Given the description of an element on the screen output the (x, y) to click on. 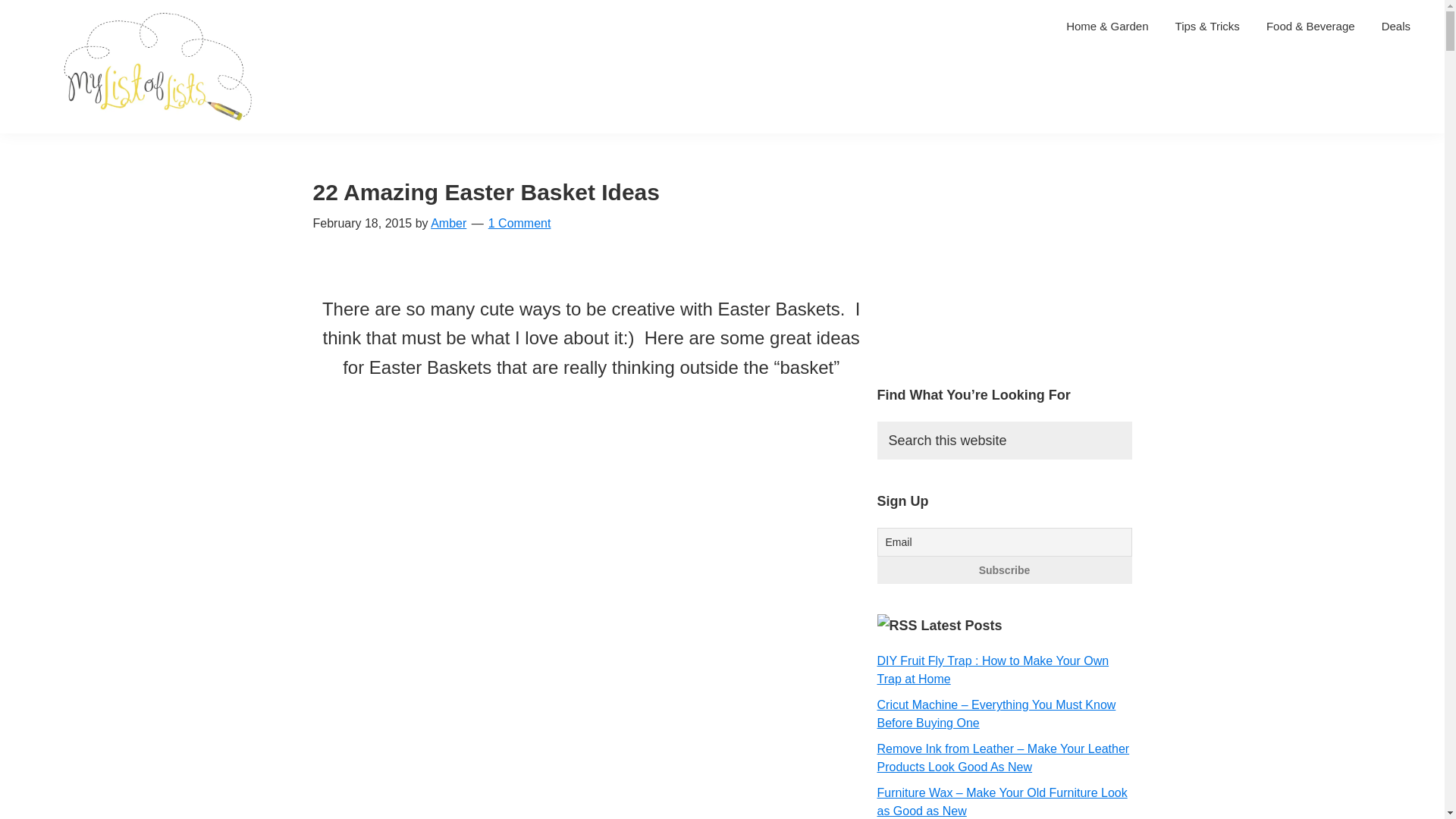
Amber (447, 223)
Subscribe (1003, 569)
Deals (1396, 25)
1 Comment (519, 223)
